Given the description of an element on the screen output the (x, y) to click on. 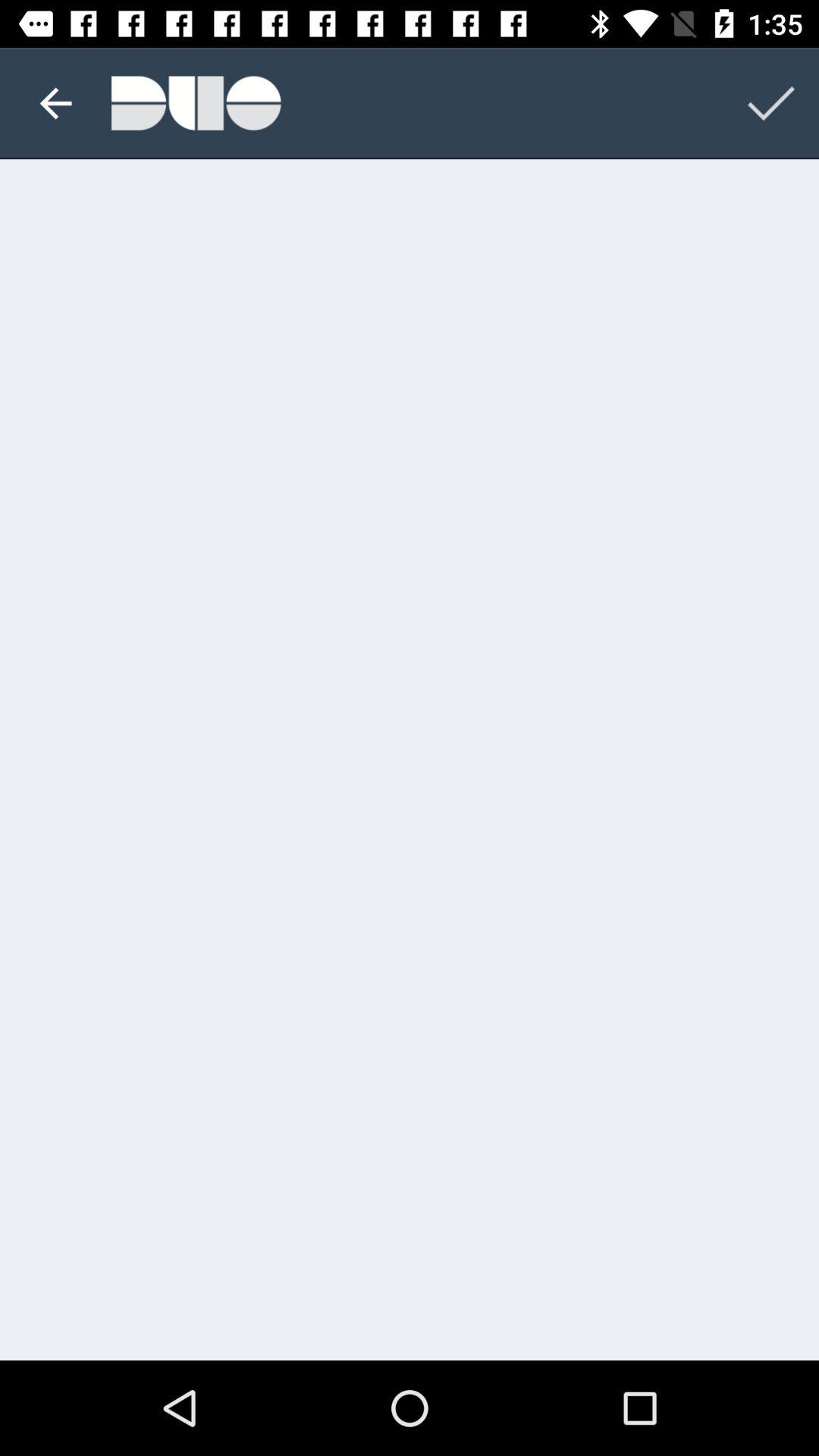
select the item at the center (409, 759)
